Given the description of an element on the screen output the (x, y) to click on. 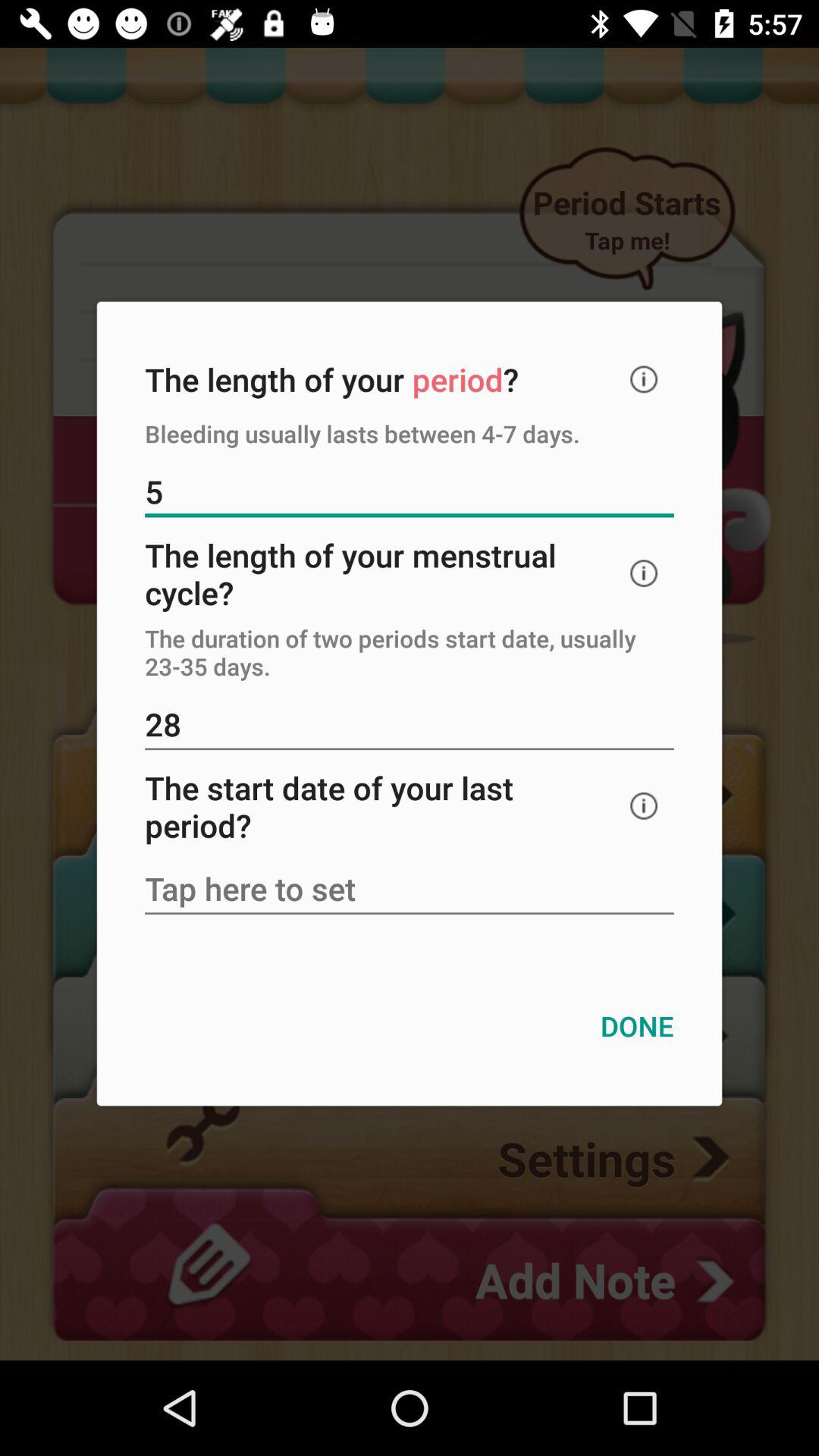
open the item above the the length of item (409, 493)
